Given the description of an element on the screen output the (x, y) to click on. 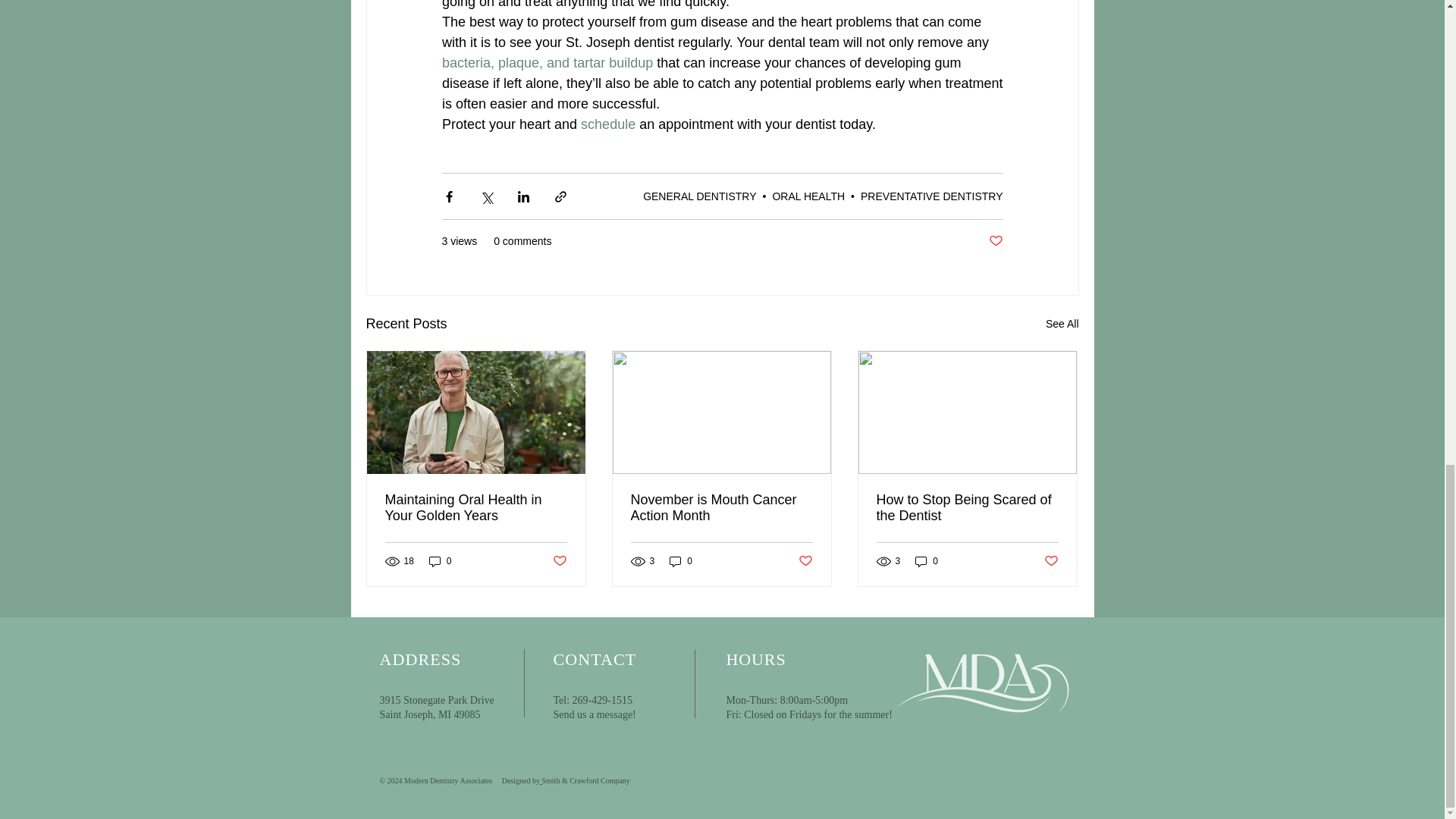
bacteria, plaque, and tartar buildup (546, 62)
schedule (607, 124)
